Given the description of an element on the screen output the (x, y) to click on. 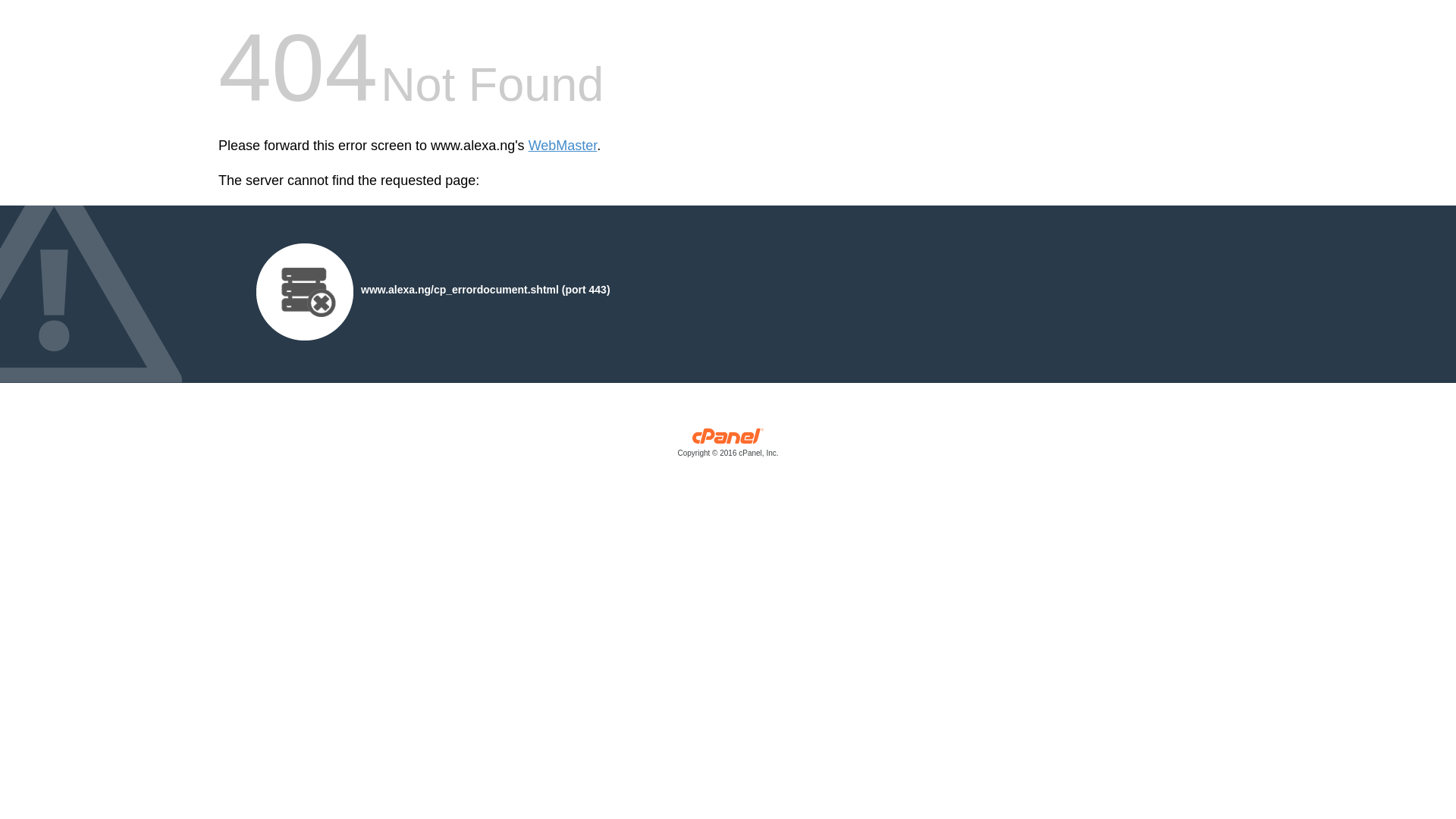
WebMaster (562, 145)
cPanel, Inc. (727, 446)
